Given the description of an element on the screen output the (x, y) to click on. 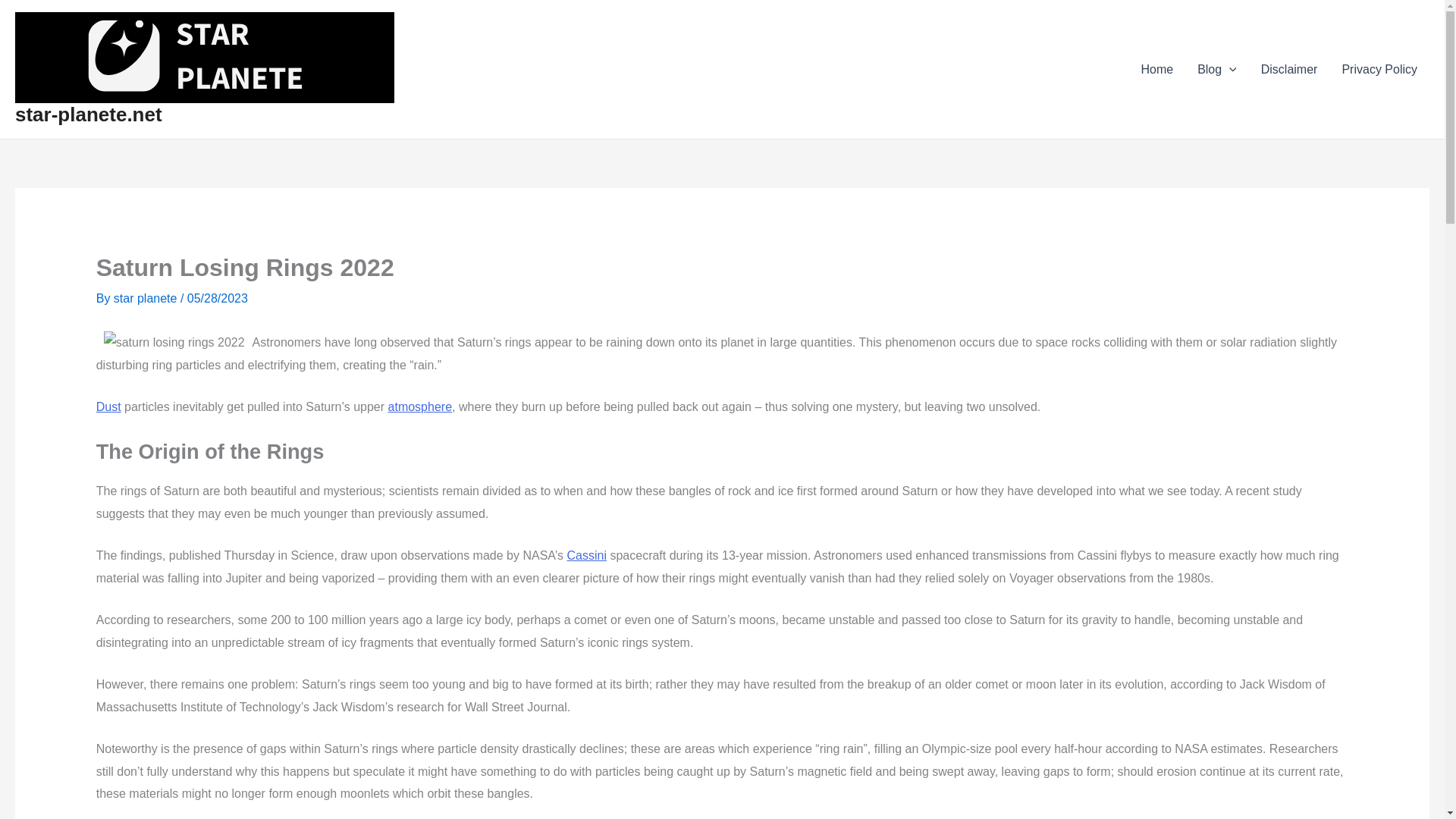
View all posts by star planete (146, 297)
star-planete.net (87, 114)
Blog (1217, 69)
Home (1156, 69)
